Given the description of an element on the screen output the (x, y) to click on. 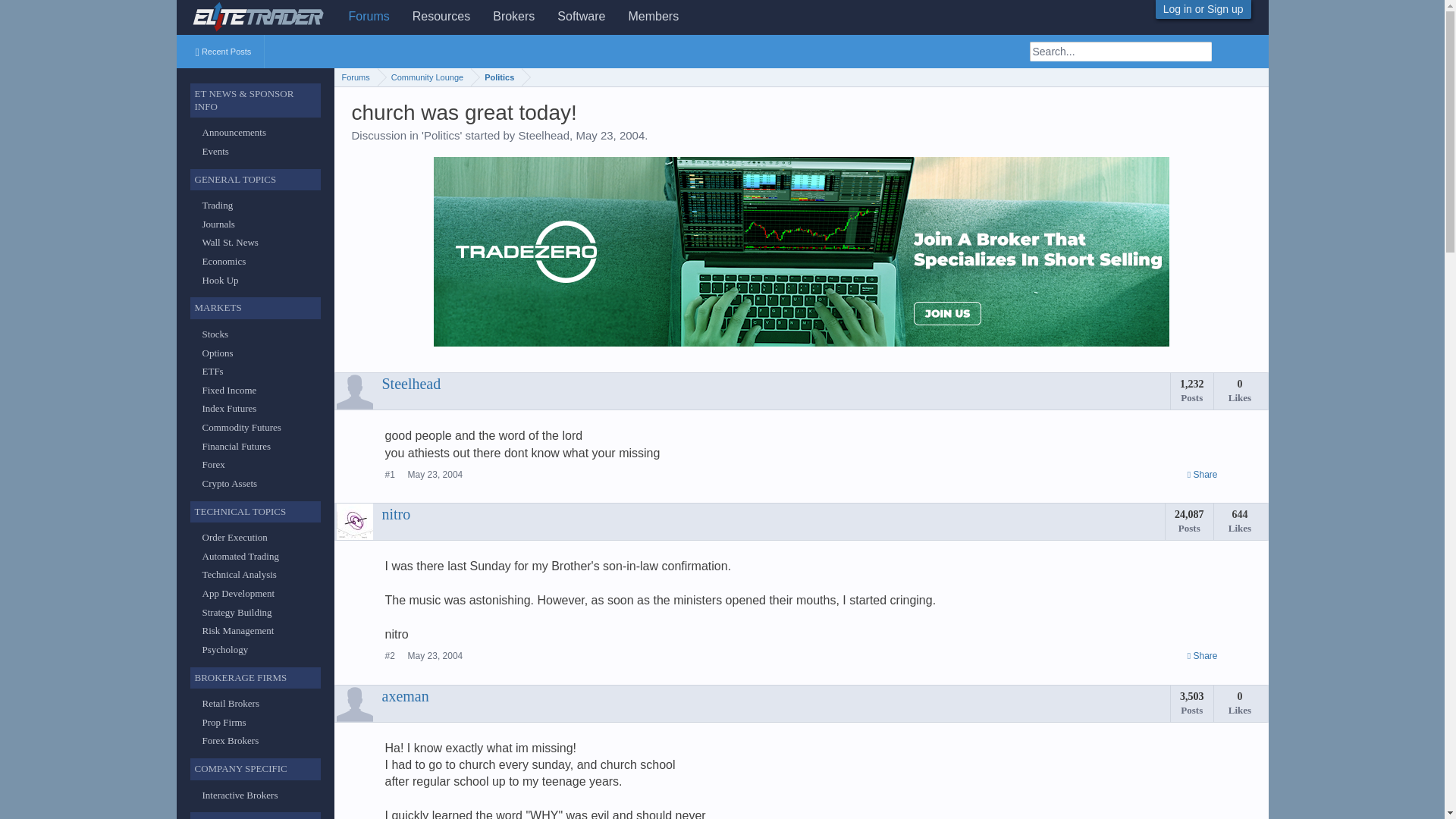
Automated Trading (240, 555)
Retail Brokers (230, 703)
Hook Up (220, 279)
ETFs (212, 370)
Crypto Assets (229, 482)
Log in or Sign up (1203, 9)
Prop Firms (224, 722)
Commodity Futures (241, 427)
Wall St. News (229, 242)
Announcements (233, 132)
Strategy Building (236, 612)
Stocks (215, 333)
Options (217, 352)
Trading (217, 204)
App Development (238, 593)
